Given the description of an element on the screen output the (x, y) to click on. 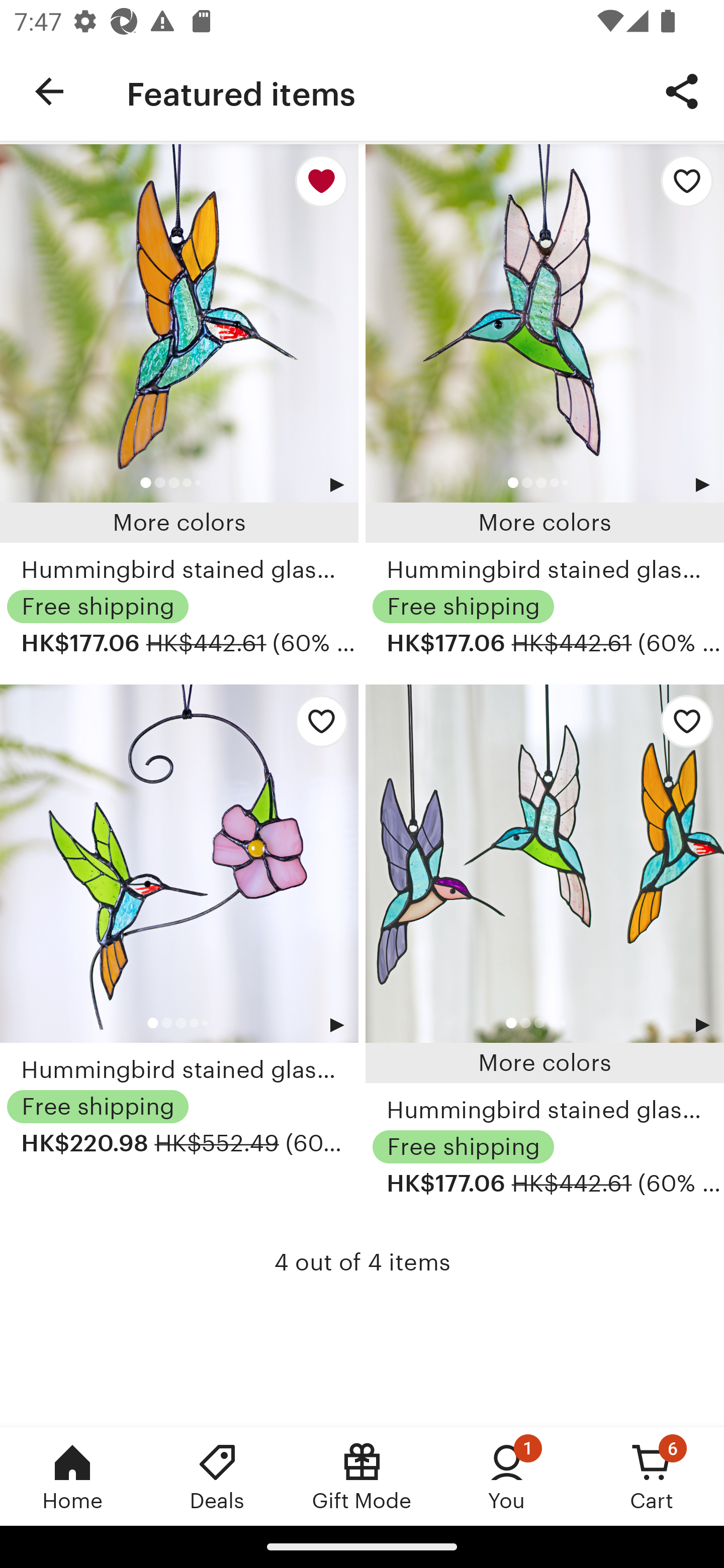
Navigate up (49, 91)
Share Button (681, 90)
Deals (216, 1475)
Gift Mode (361, 1475)
You, 1 new notification You (506, 1475)
Cart, 6 new notifications Cart (651, 1475)
